Given the description of an element on the screen output the (x, y) to click on. 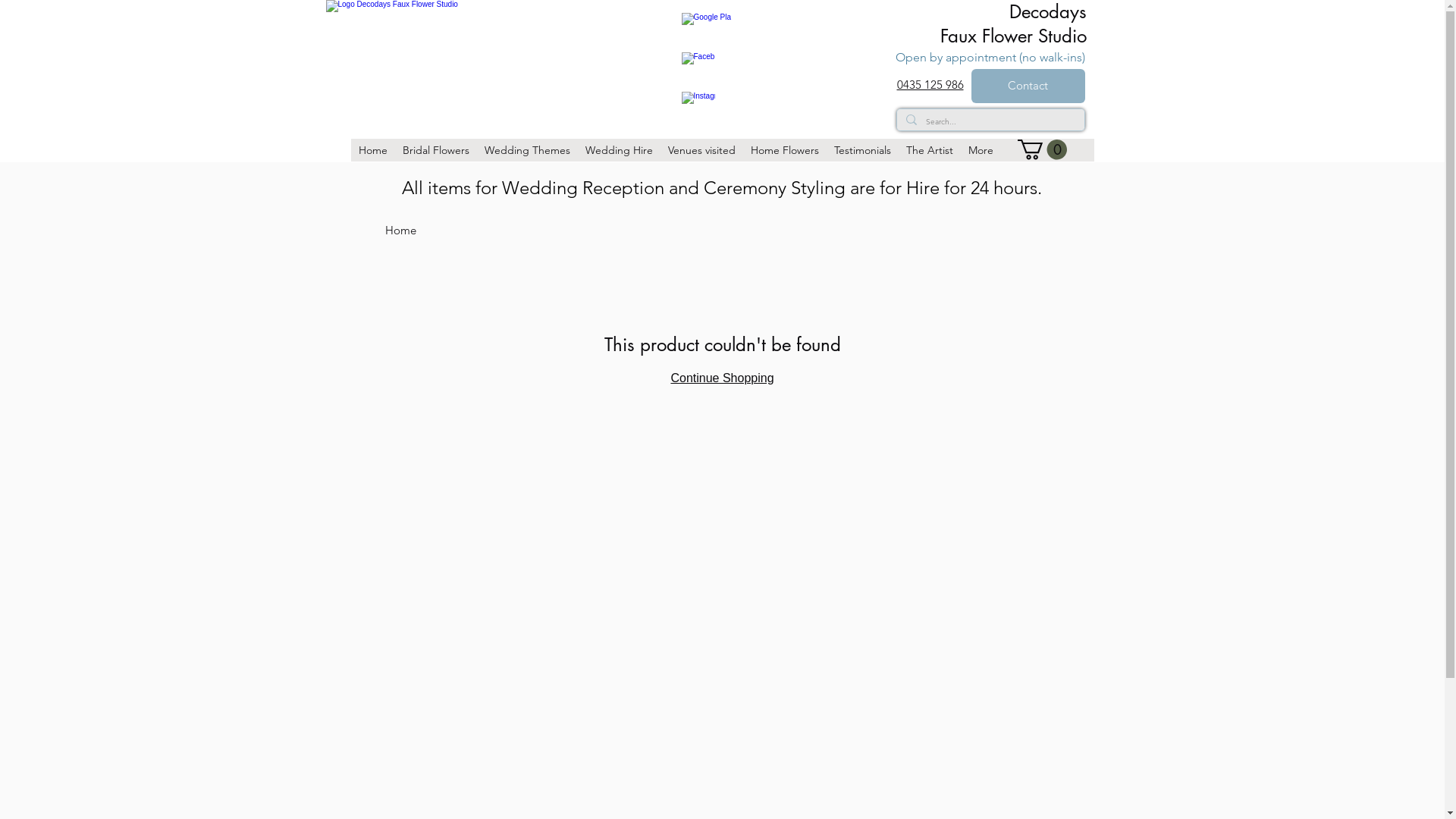
Testimonials Element type: text (862, 149)
Home Flowers Element type: text (784, 149)
Wedding Themes Element type: text (526, 149)
Home Element type: text (372, 149)
Bridal Flowers Element type: text (435, 149)
Faux Flower Studio Element type: text (1013, 35)
0435 125 986 Element type: text (929, 84)
Continue Shopping Element type: text (721, 377)
Contact Element type: text (1027, 86)
Decodays Element type: text (1046, 11)
Home Element type: text (400, 229)
The Artist Element type: text (928, 149)
0 Element type: text (1041, 149)
